Given the description of an element on the screen output the (x, y) to click on. 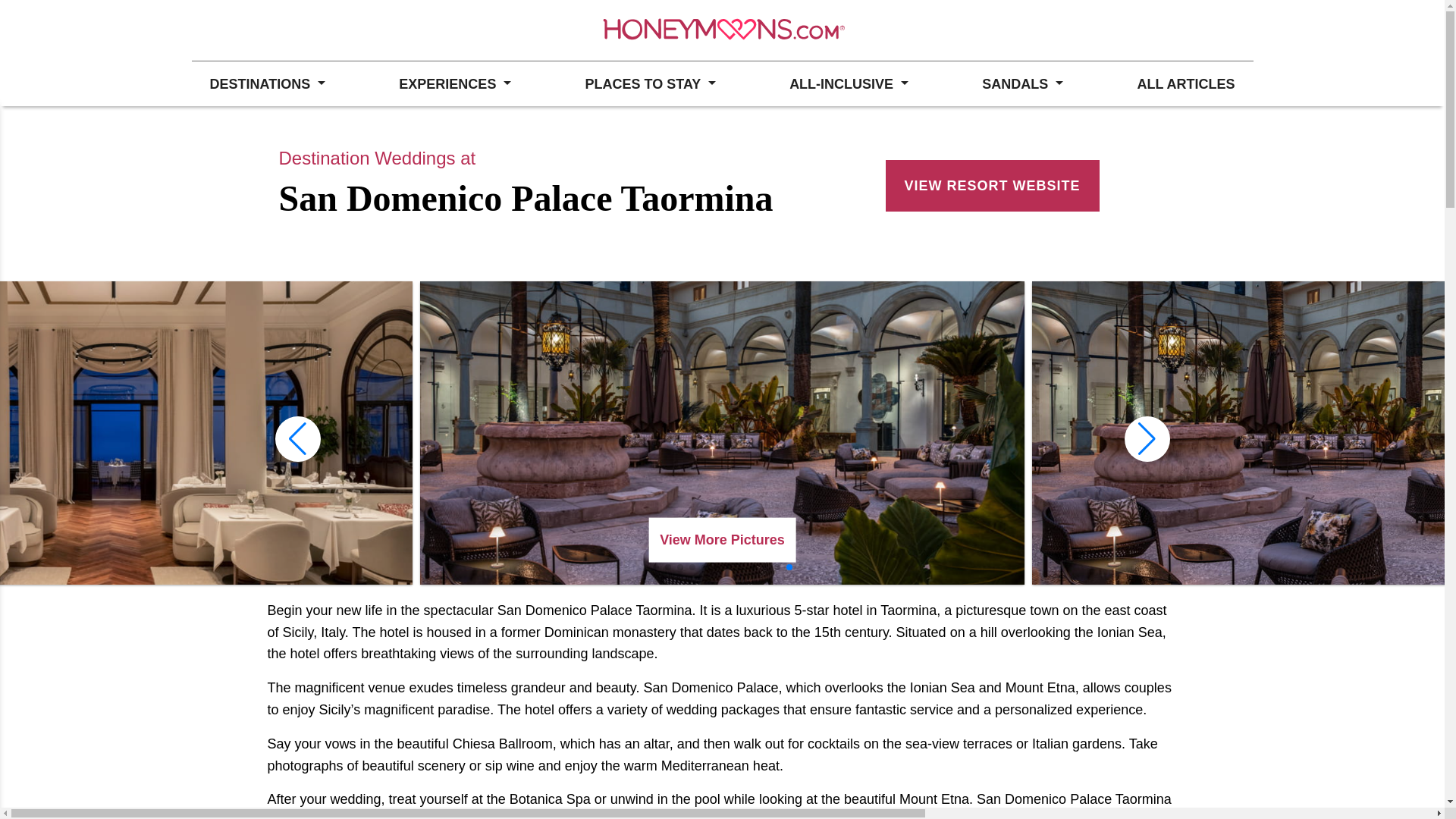
Connect With A Travel Advisor (273, 30)
EXPERIENCES (454, 84)
DESTINATIONS (266, 84)
